Given the description of an element on the screen output the (x, y) to click on. 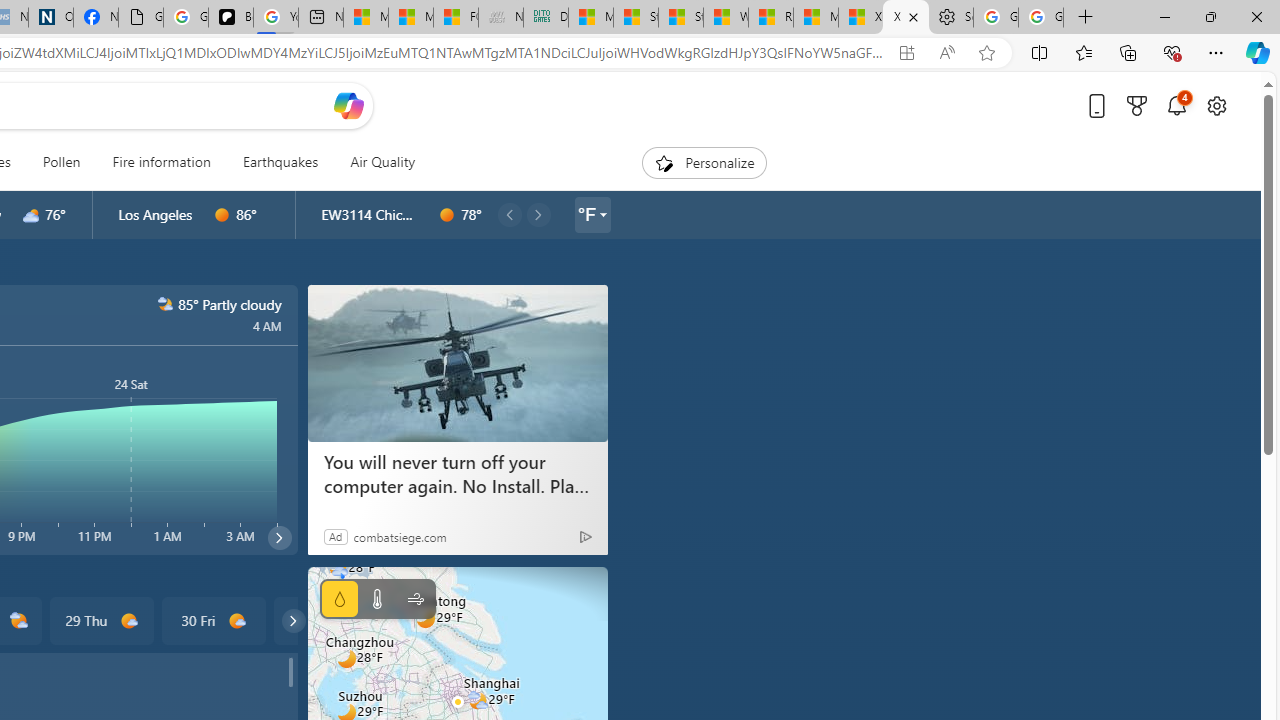
combatsiege.com (399, 536)
Temperature (376, 599)
30 Fri d1000 (213, 620)
R******* | Trusted Community Engagement and Contributions (770, 17)
Fire information (161, 162)
